Given the description of an element on the screen output the (x, y) to click on. 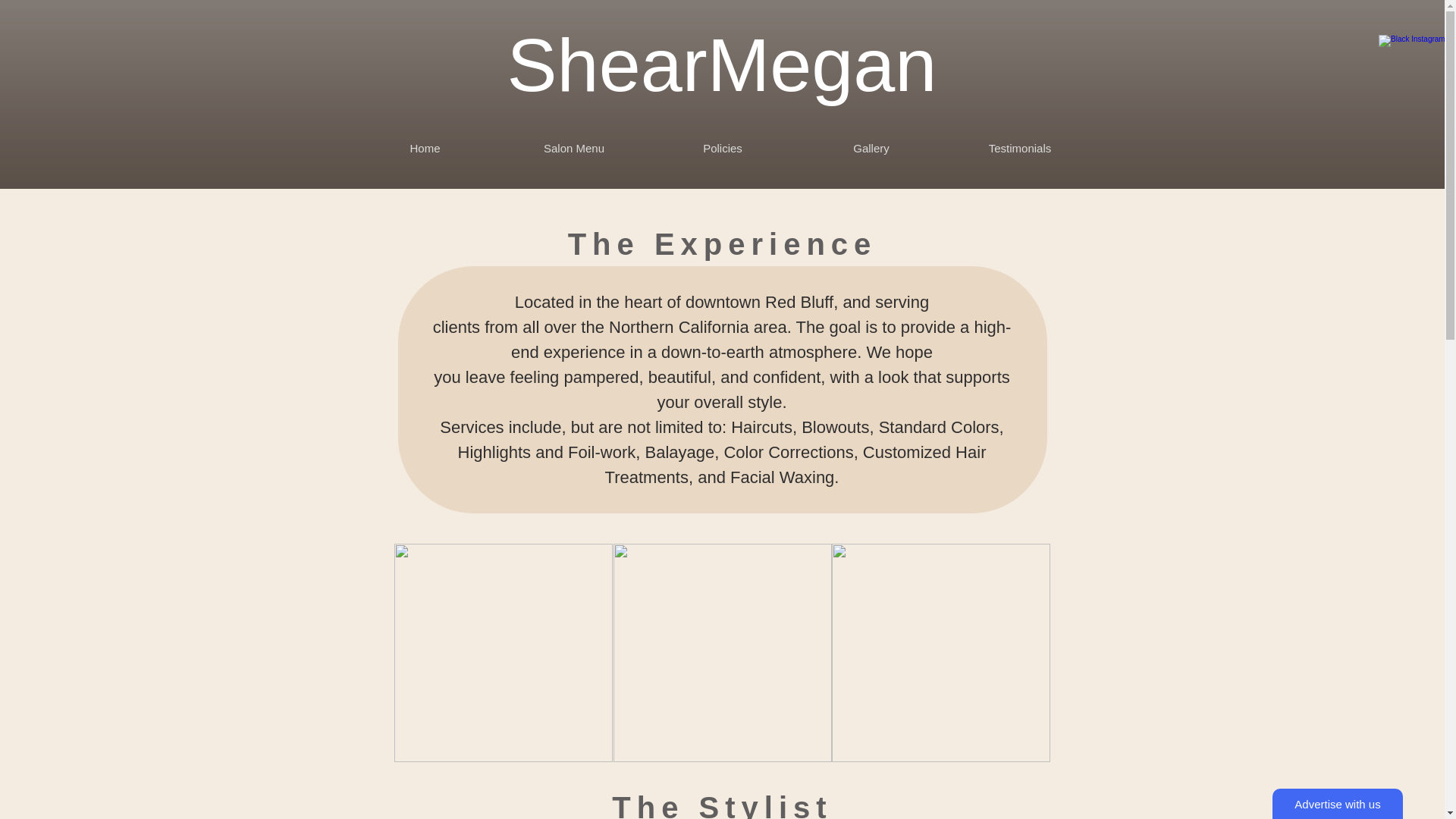
Policies (721, 148)
Salon Menu (573, 148)
4D84A03D-B48E-46C5-ADA5-163DCB69ECAB.jpg (940, 652)
Testimonials (1018, 148)
Home (424, 148)
1FDB2B5A-61C5-40A7-936D-00217FFAB892.JPG (503, 652)
Advertise with us (1337, 803)
Gallery (870, 148)
